Given the description of an element on the screen output the (x, y) to click on. 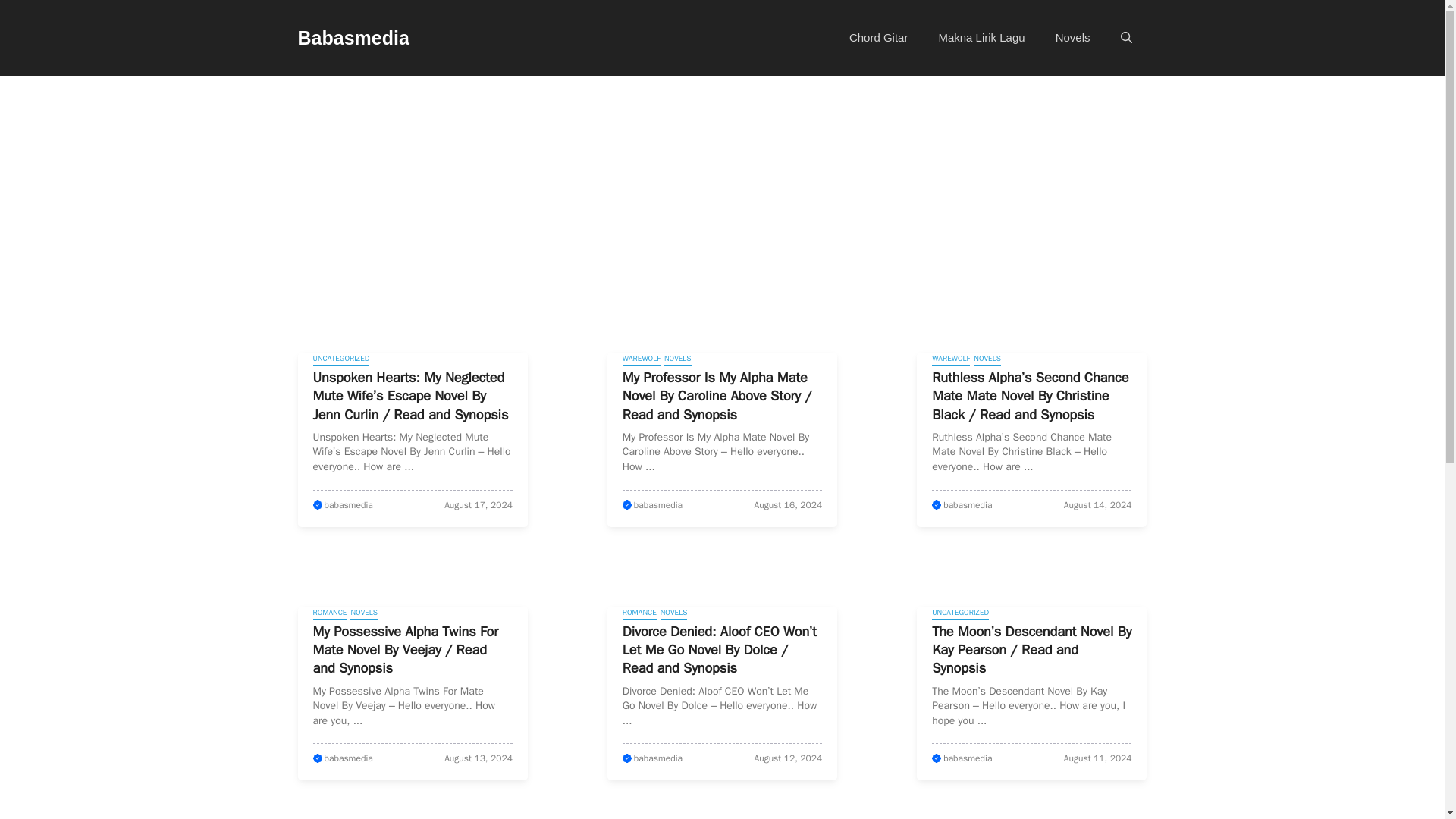
WAREWOLF (642, 358)
NOVELS (363, 613)
babasmedia (657, 504)
ROMANCE (329, 613)
babasmedia (967, 758)
NOVELS (987, 358)
babasmedia (348, 758)
Chord Gitar (878, 37)
babasmedia (348, 504)
Babasmedia (353, 37)
